Given the description of an element on the screen output the (x, y) to click on. 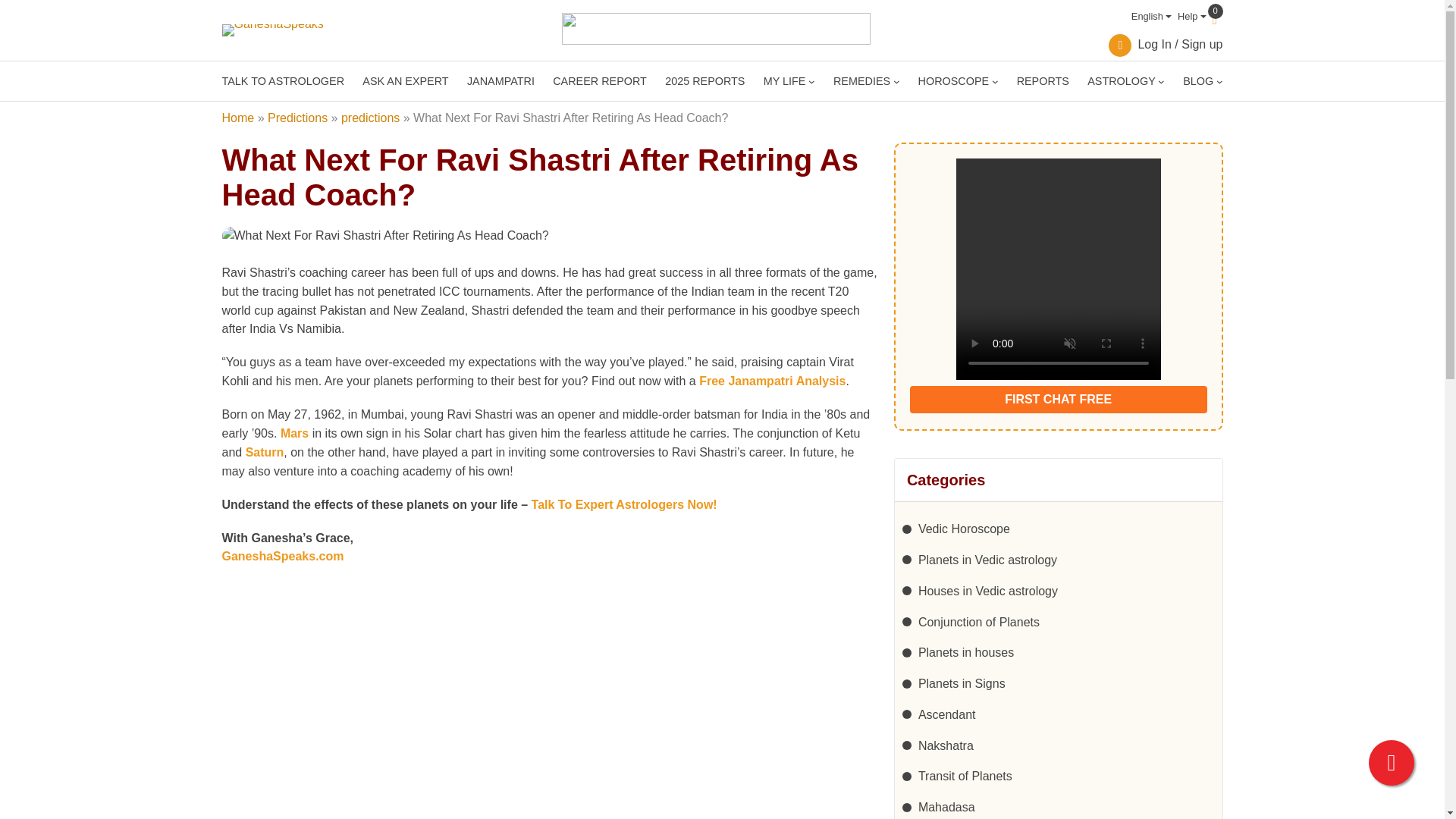
2025 REPORTS (704, 80)
JANAMPATRI (500, 80)
ASK AN EXPERT (405, 80)
CAREER REPORT (599, 80)
MY LIFE (784, 80)
TALK TO ASTROLOGER (282, 80)
Help (1189, 16)
English (1148, 16)
